Given the description of an element on the screen output the (x, y) to click on. 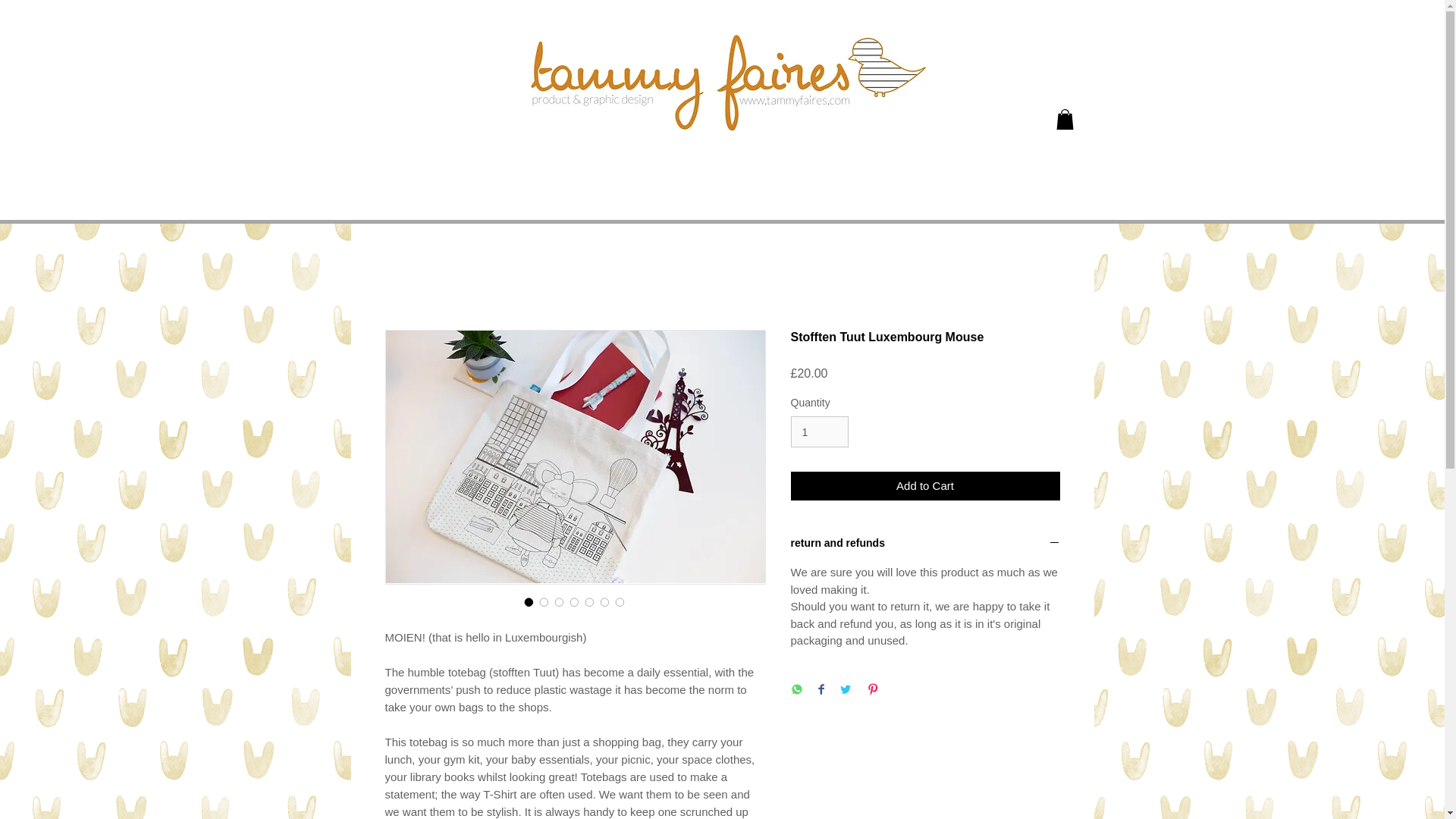
Add to Cart (924, 486)
1 (818, 431)
return and refunds (924, 544)
